Given the description of an element on the screen output the (x, y) to click on. 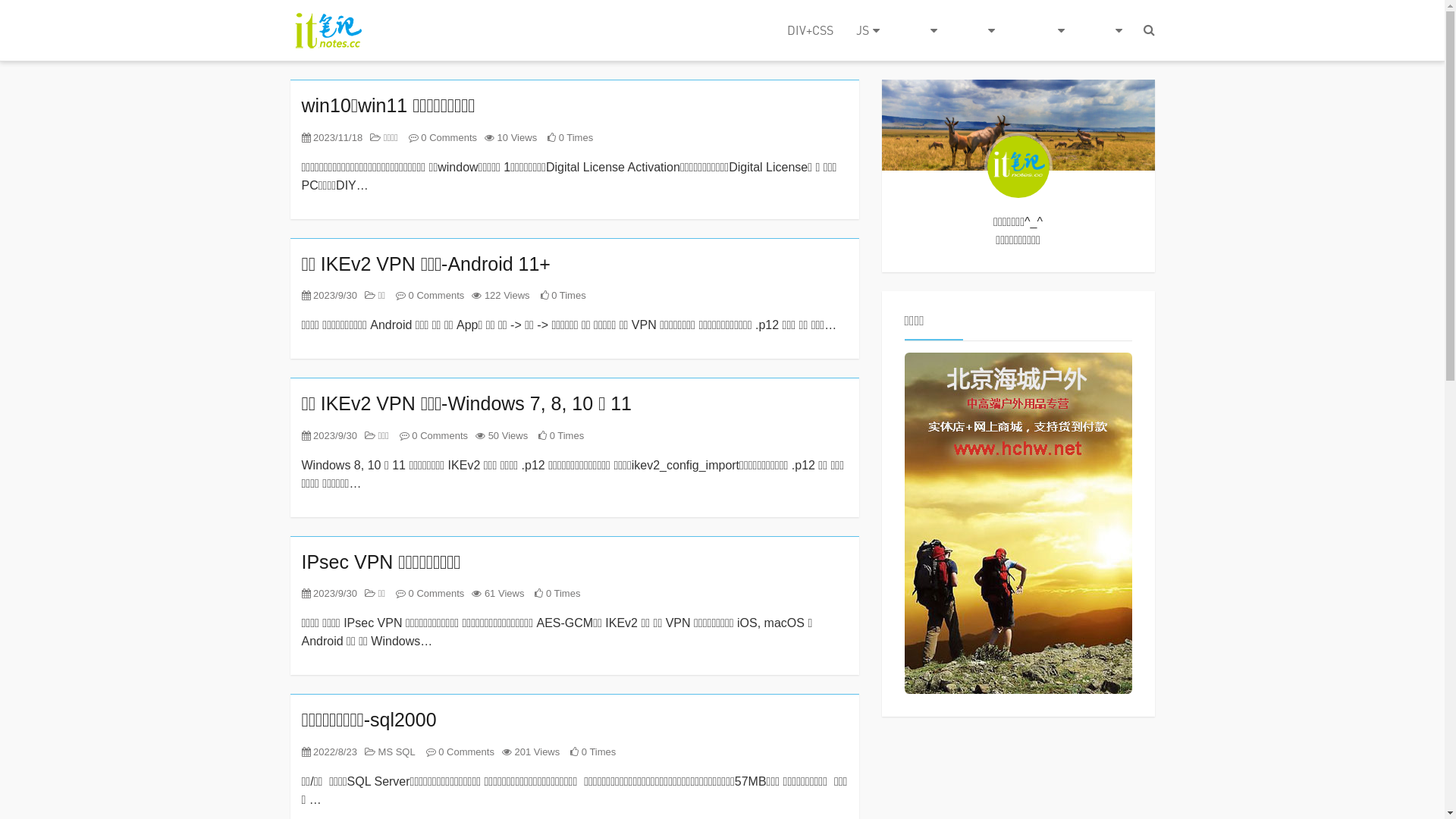
0 Comments Element type: text (429, 295)
0 Times Element type: text (570, 137)
MS SQL Element type: text (389, 751)
0 Times Element type: text (592, 751)
JS Element type: text (867, 30)
2022/8/23 Element type: text (329, 751)
0 Times Element type: text (563, 295)
2023/11/18 Element type: text (332, 137)
0 Comments Element type: text (460, 751)
DIV+CSS Element type: text (809, 30)
50 Views Element type: text (501, 435)
2023/9/30 Element type: text (329, 593)
0 Comments Element type: text (429, 593)
122 Views Element type: text (500, 295)
0 Comments Element type: text (433, 435)
0 Times Element type: text (560, 435)
2023/9/30 Element type: text (329, 435)
0 Comments Element type: text (442, 137)
61 Views Element type: text (497, 593)
10 Views Element type: text (510, 137)
2023/9/30 Element type: text (329, 295)
0 Times Element type: text (557, 593)
201 Views Element type: text (530, 751)
